Given the description of an element on the screen output the (x, y) to click on. 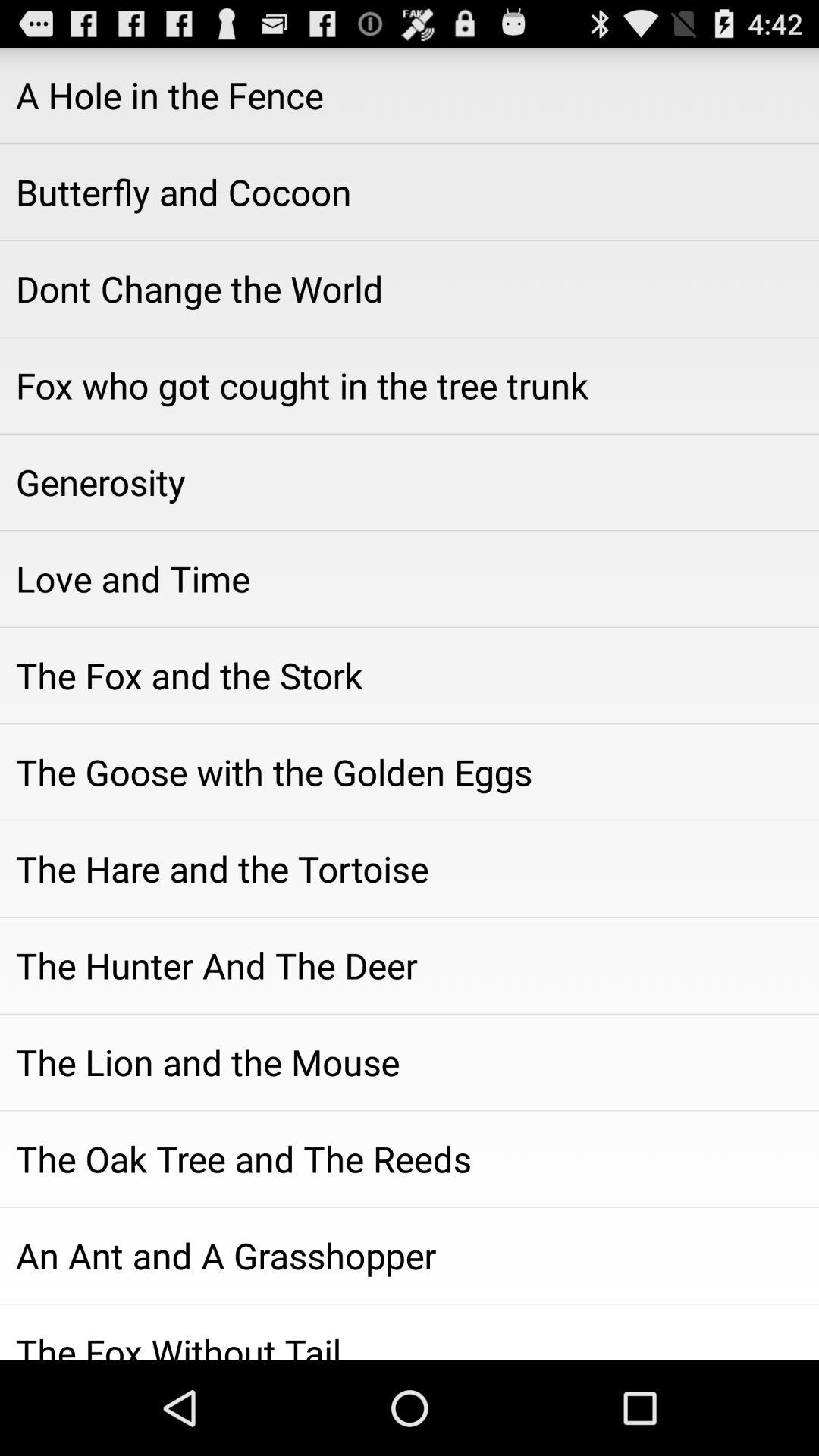
click app above fox who got icon (409, 288)
